Given the description of an element on the screen output the (x, y) to click on. 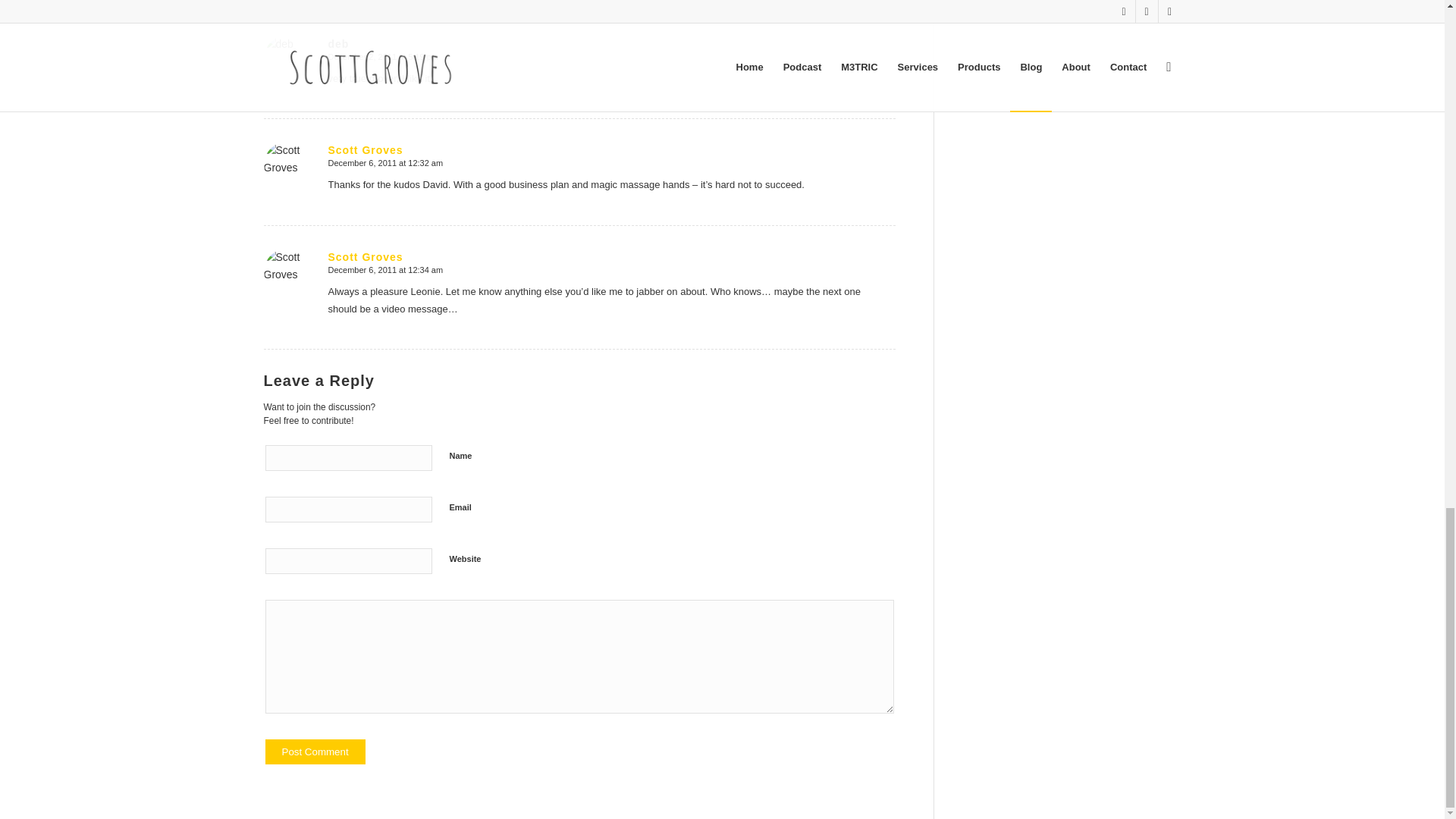
December 2, 2011 at 5:19 pm (382, 56)
Post Comment (314, 751)
Scott Groves (365, 150)
